Given the description of an element on the screen output the (x, y) to click on. 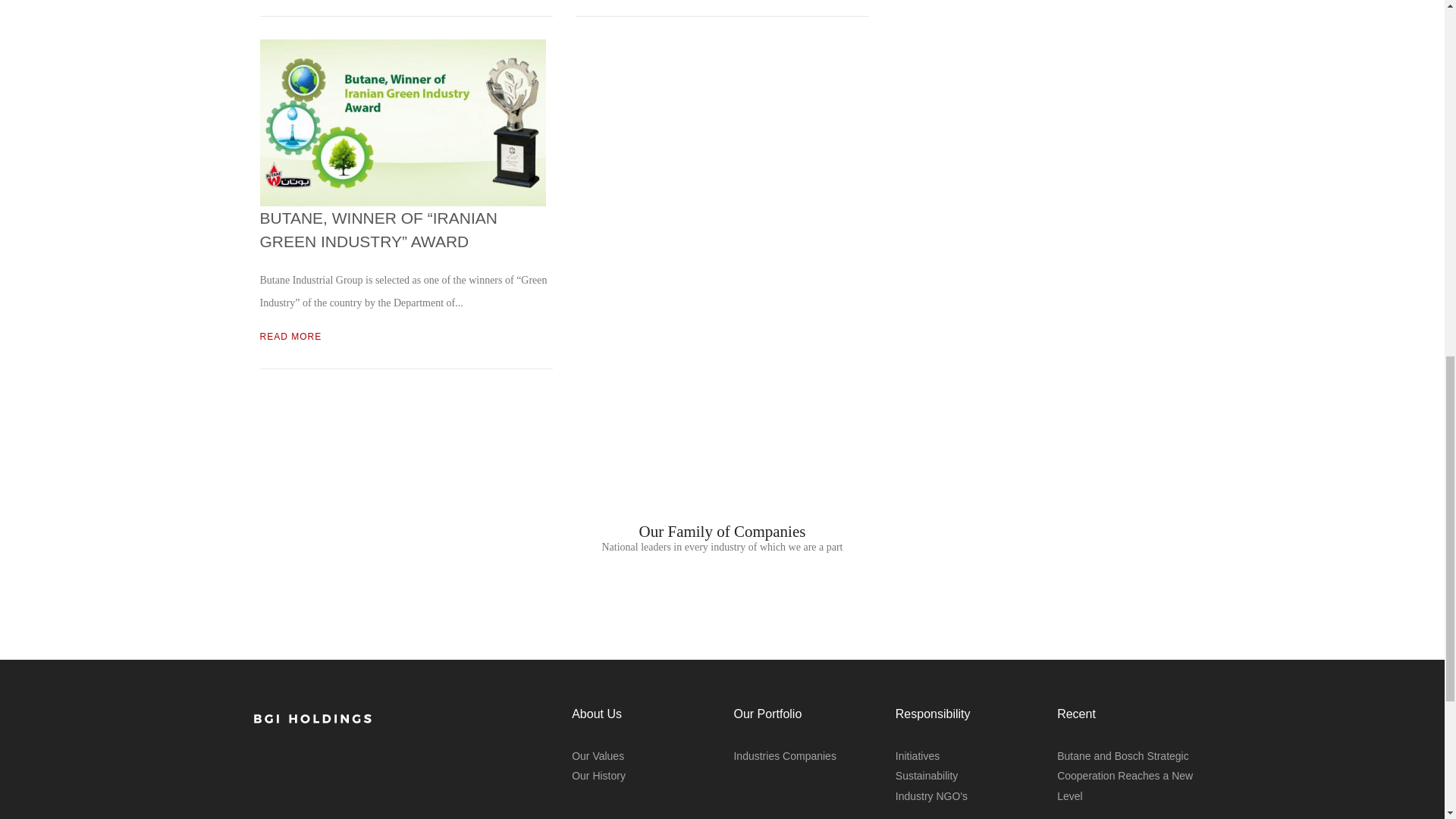
Initiatives (917, 756)
Our History (599, 775)
Companies (809, 756)
Our Values (598, 756)
Industries (755, 756)
READ MORE (290, 336)
